Given the description of an element on the screen output the (x, y) to click on. 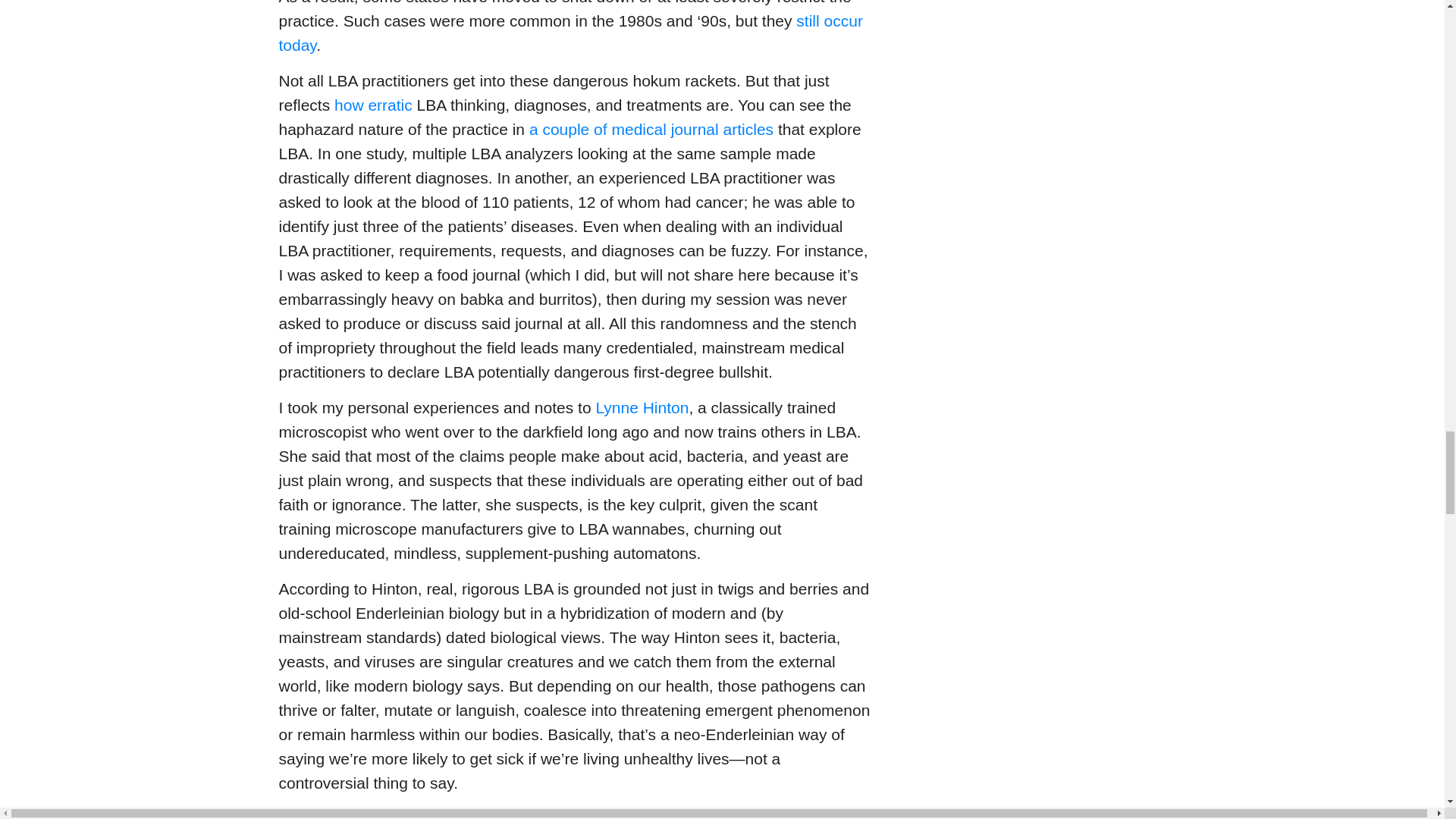
Lynne Hinton (641, 407)
still occur today (571, 33)
how erratic (373, 104)
a couple of medical journal articles (651, 129)
